Given the description of an element on the screen output the (x, y) to click on. 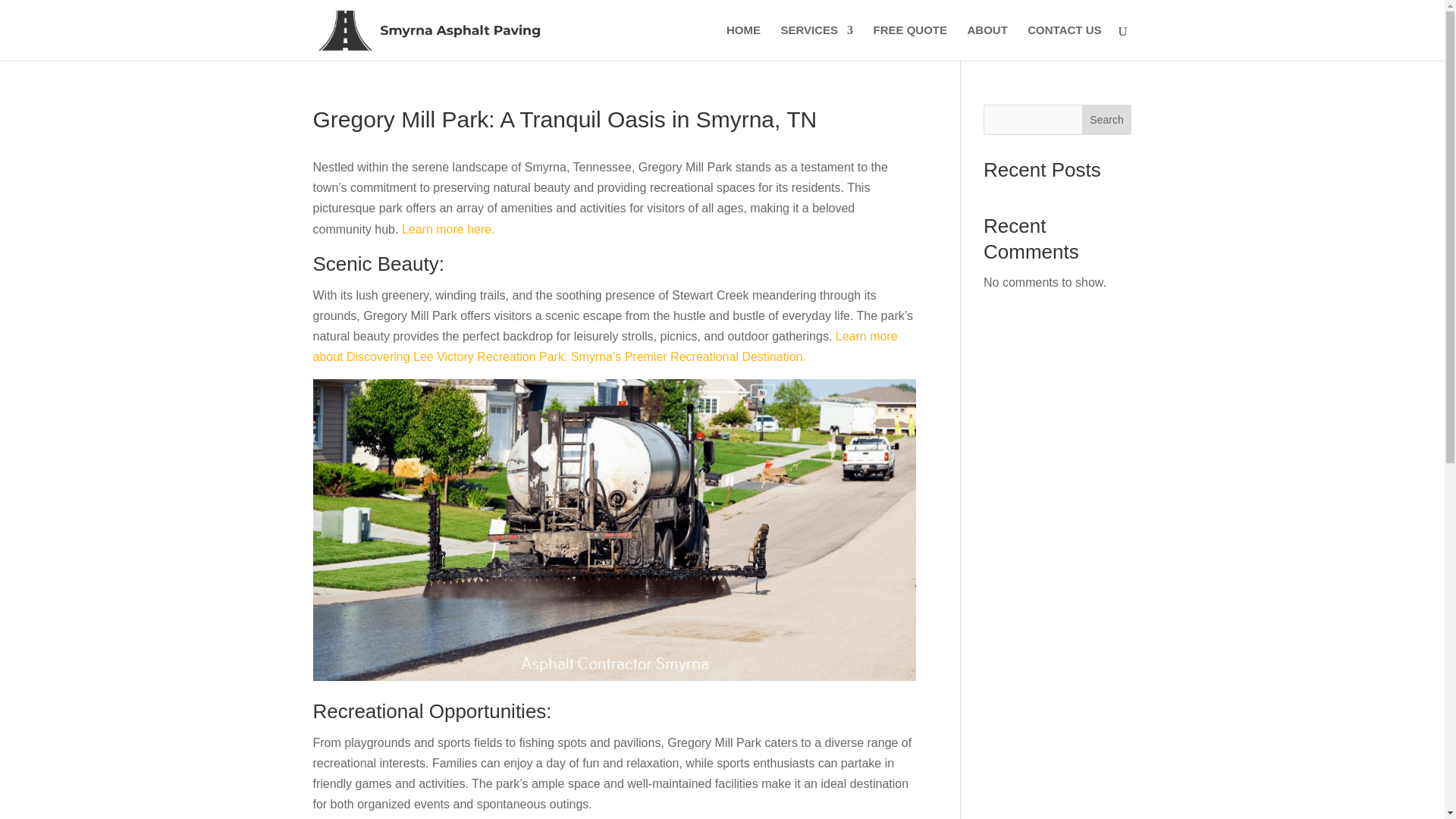
ABOUT (987, 42)
Learn more here. (448, 228)
CONTACT US (1063, 42)
HOME (743, 42)
SERVICES (816, 42)
FREE QUOTE (910, 42)
Search (1106, 119)
